Given the description of an element on the screen output the (x, y) to click on. 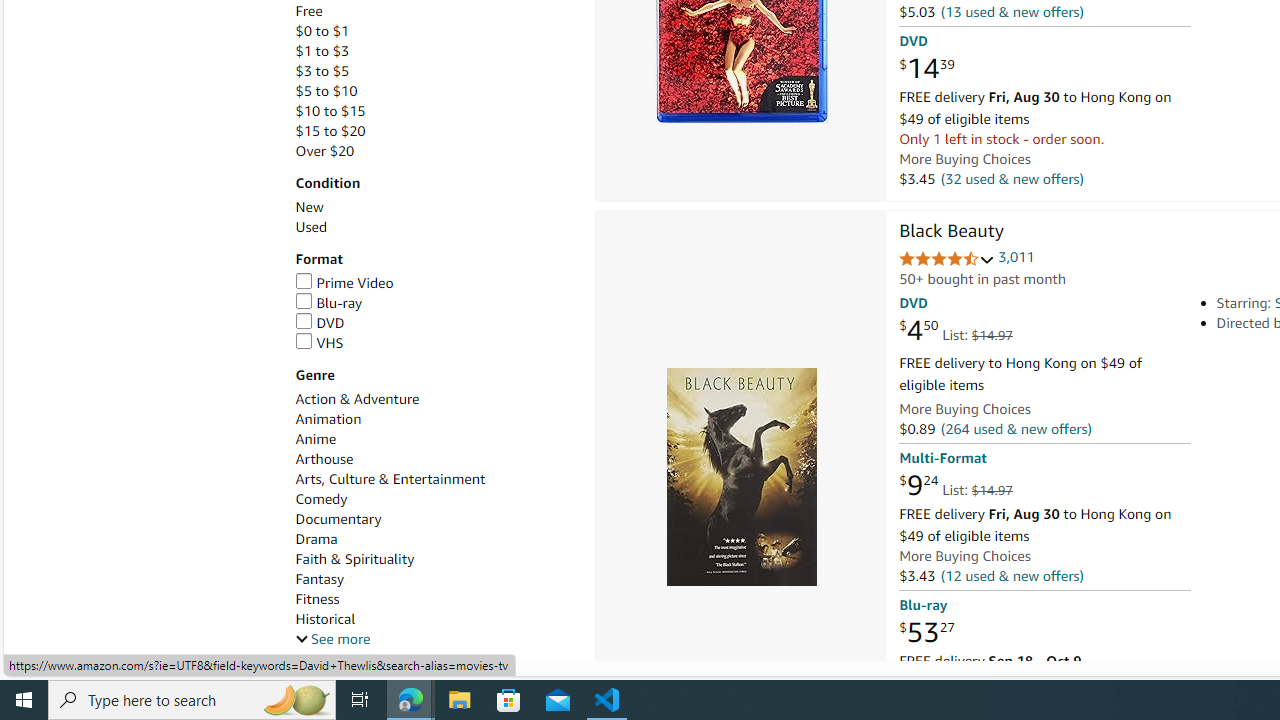
Comedy (434, 499)
Used (310, 227)
$5 to $10 (434, 91)
Skip to main search results (88, 651)
DVD (319, 322)
Multi-Format (942, 458)
Over $20 (434, 151)
(32 used & new offers) (1011, 178)
Documentary (434, 519)
Historical (434, 619)
New (308, 207)
See more, Genre (332, 639)
4.7 out of 5 stars (946, 259)
Arts, Culture & Entertainment (390, 479)
Go back to filtering menu (84, 651)
